Given the description of an element on the screen output the (x, y) to click on. 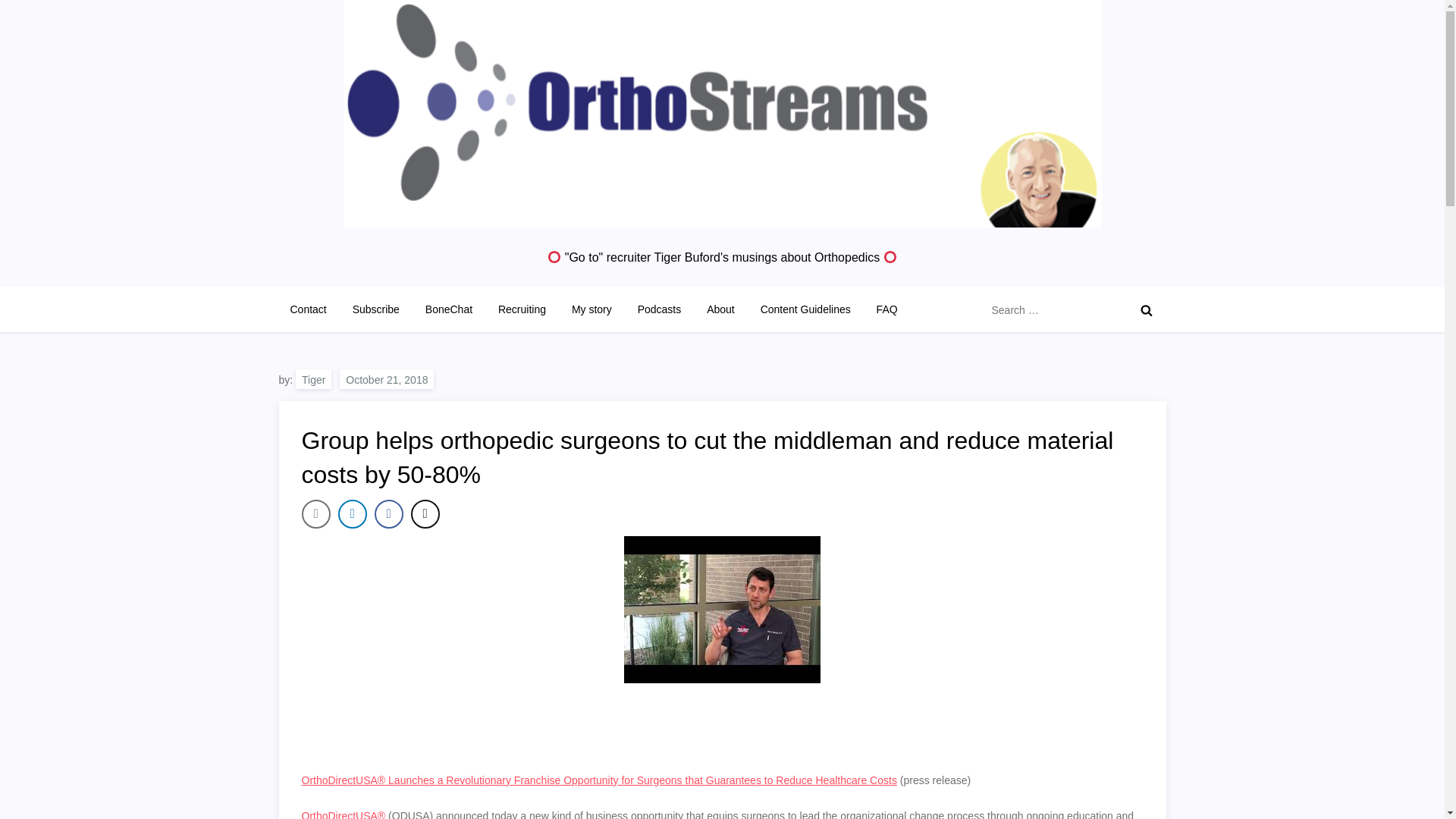
BoneChat (448, 309)
Subscribe (375, 309)
October 21, 2018 (386, 379)
FAQ (886, 309)
Content Guidelines (805, 309)
Recruiting (521, 309)
My story (591, 309)
Tiger (313, 379)
About (720, 309)
Podcasts (659, 309)
